Given the description of an element on the screen output the (x, y) to click on. 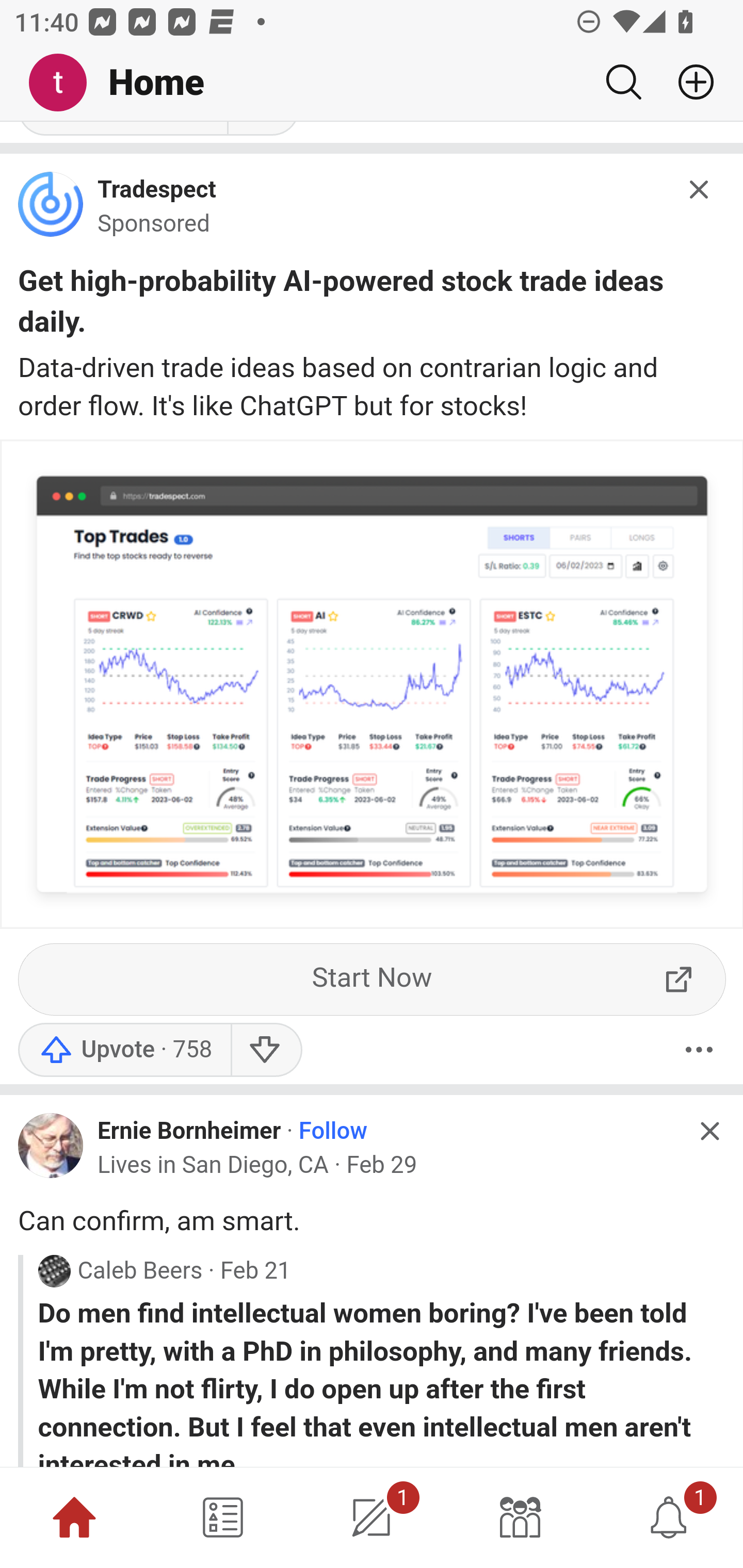
Me (64, 83)
Search (623, 82)
Add (688, 82)
Hide (699, 190)
main-qimg-8999dc0e311b8271df164a63541a9fb0 (50, 208)
Tradespect (156, 191)
Sponsored (154, 224)
Start Now ExternalLink (372, 979)
Upvote (124, 1050)
Downvote (266, 1050)
More (699, 1050)
Hide (709, 1131)
Profile photo for Ernie Bornheimer (50, 1146)
Ernie Bornheimer (189, 1131)
Follow (332, 1131)
Profile photo for Caleb Beers (54, 1270)
1 (371, 1517)
1 (668, 1517)
